Given the description of an element on the screen output the (x, y) to click on. 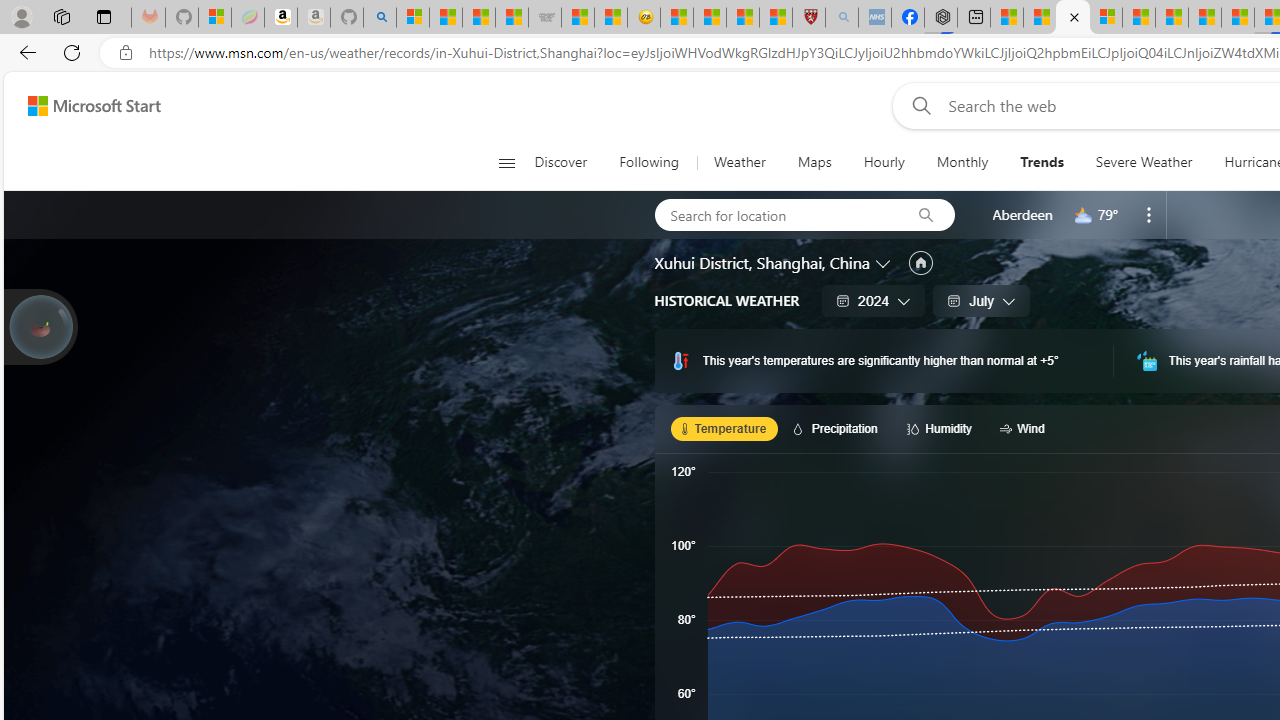
Hourly (883, 162)
Severe Weather (1144, 162)
Monthly (962, 162)
Search for location (776, 214)
Hourly (884, 162)
